Given the description of an element on the screen output the (x, y) to click on. 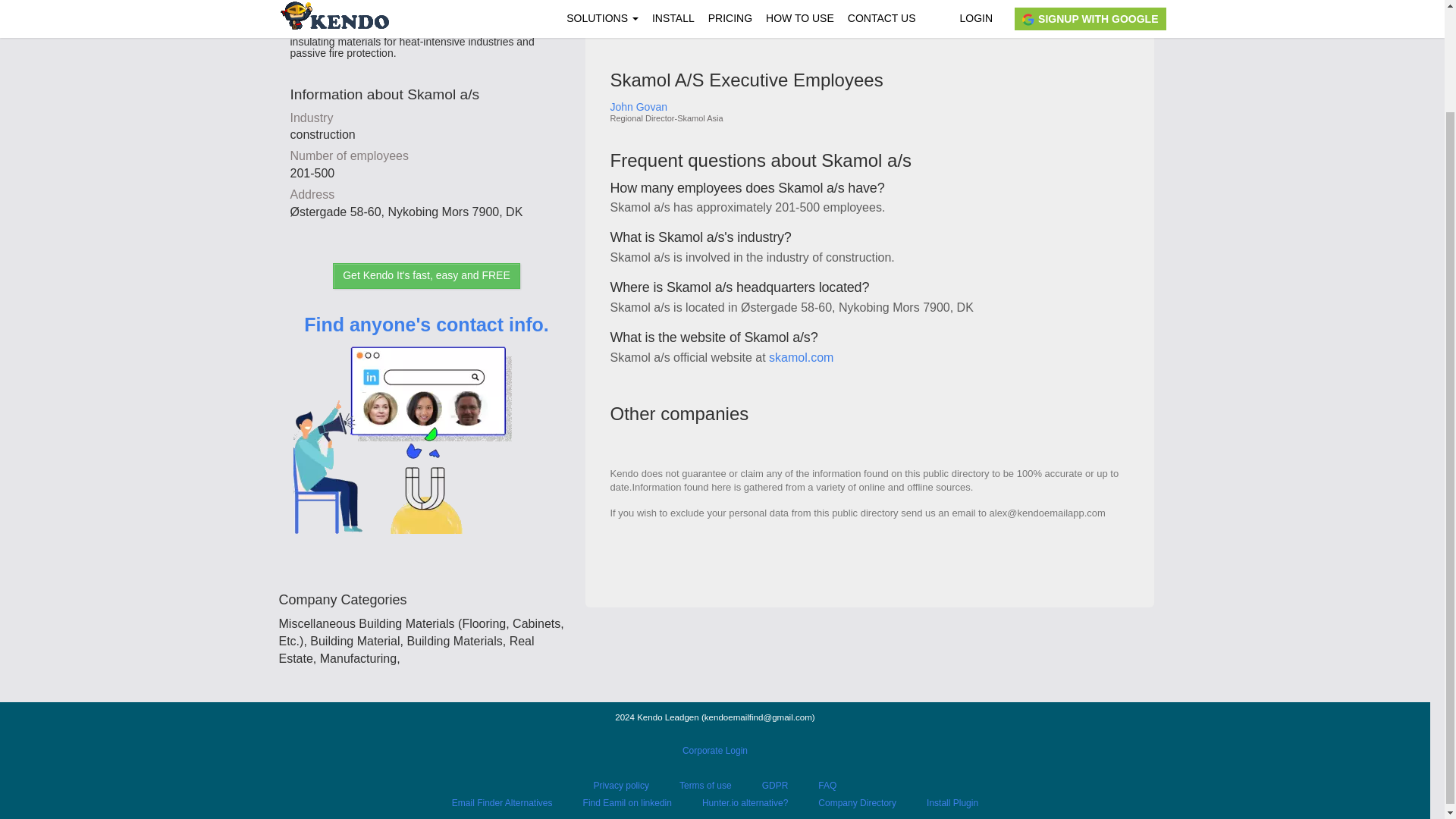
Get Kendo It's fast, easy and FREE (426, 275)
John Govan (690, 107)
GDPR (775, 785)
Find anyone's contact info. (425, 445)
FAQ (826, 785)
Terms of use (705, 785)
Email Finder Alternatives (502, 802)
Install Plugin (952, 802)
Privacy policy (621, 785)
Company Directory (857, 802)
